Given the description of an element on the screen output the (x, y) to click on. 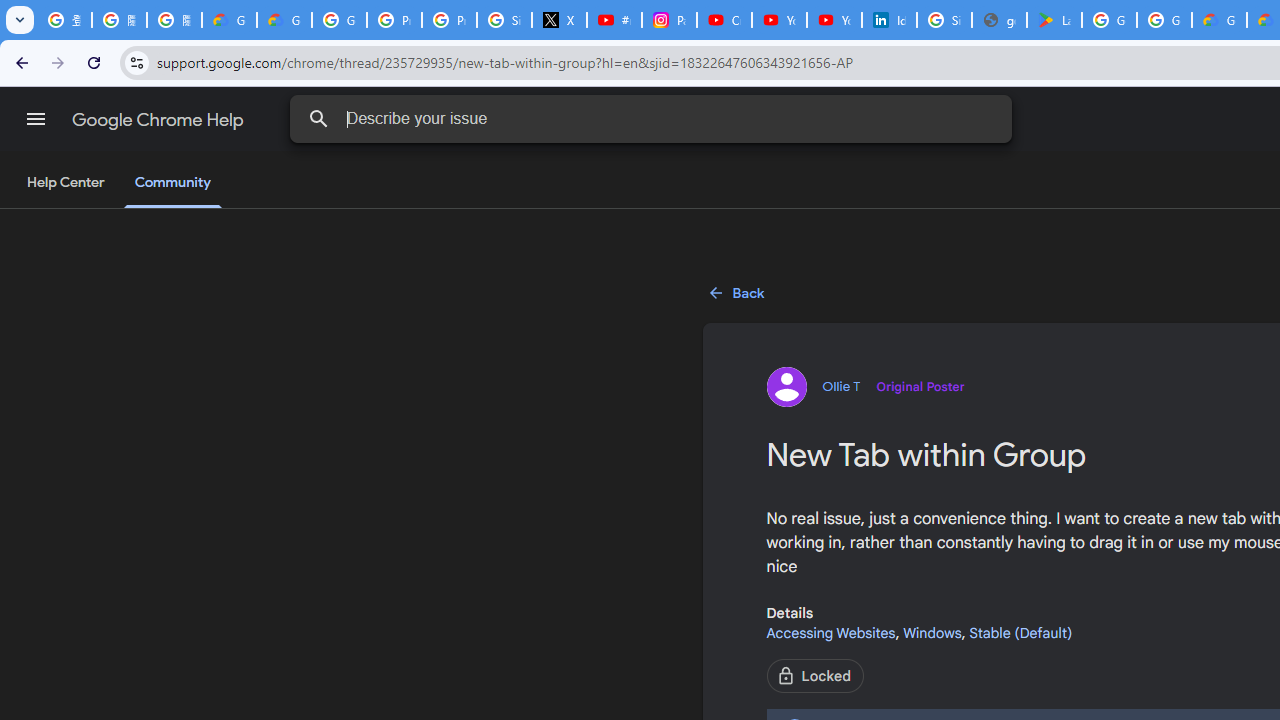
Privacy Help Center - Policies Help (449, 20)
Stable (Default) (1020, 632)
#nbabasketballhighlights - YouTube (614, 20)
Describe your issue (653, 118)
Google Chrome Help (159, 119)
